Given the description of an element on the screen output the (x, y) to click on. 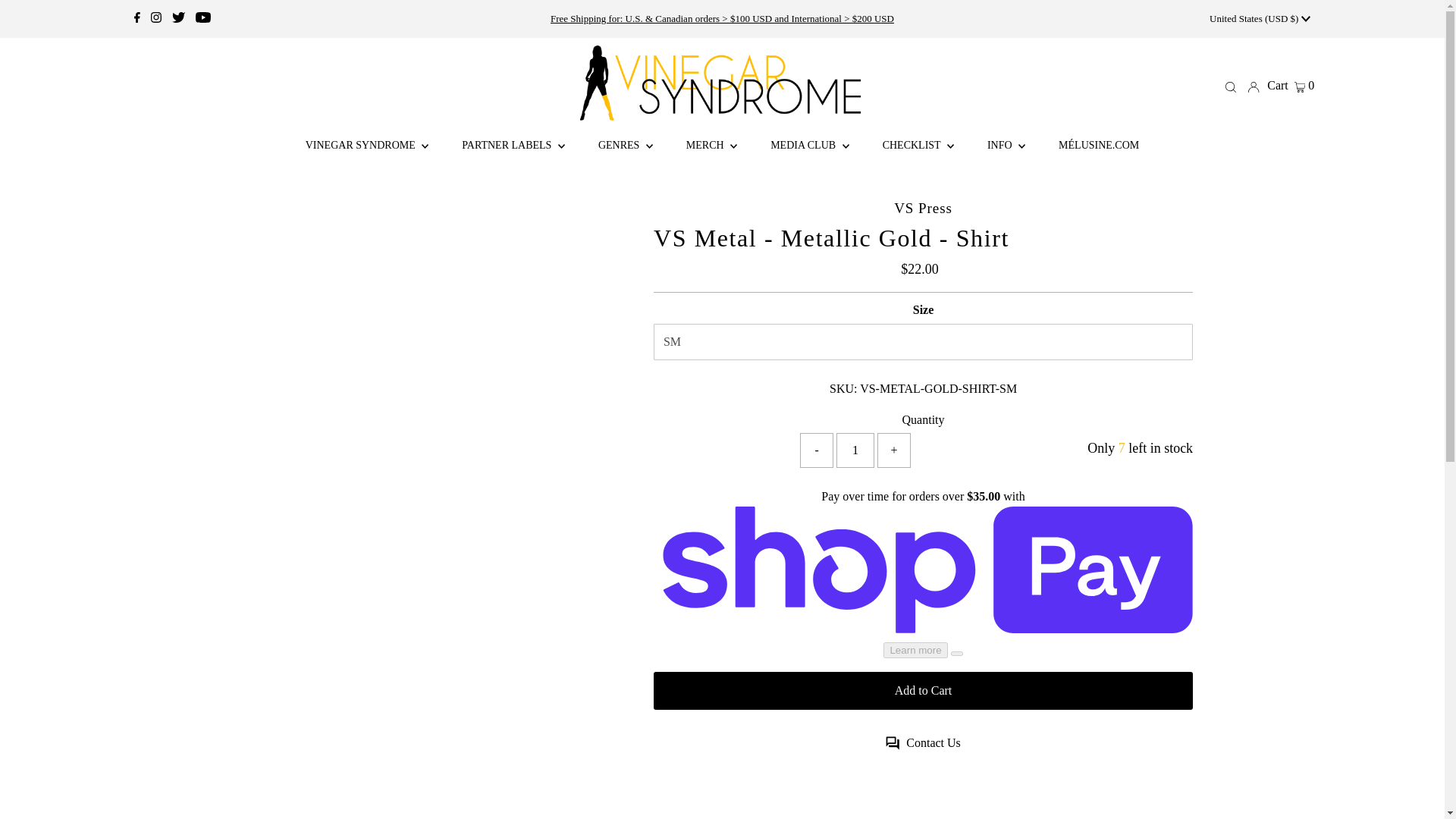
Add to Cart (922, 690)
1 (855, 450)
